Given the description of an element on the screen output the (x, y) to click on. 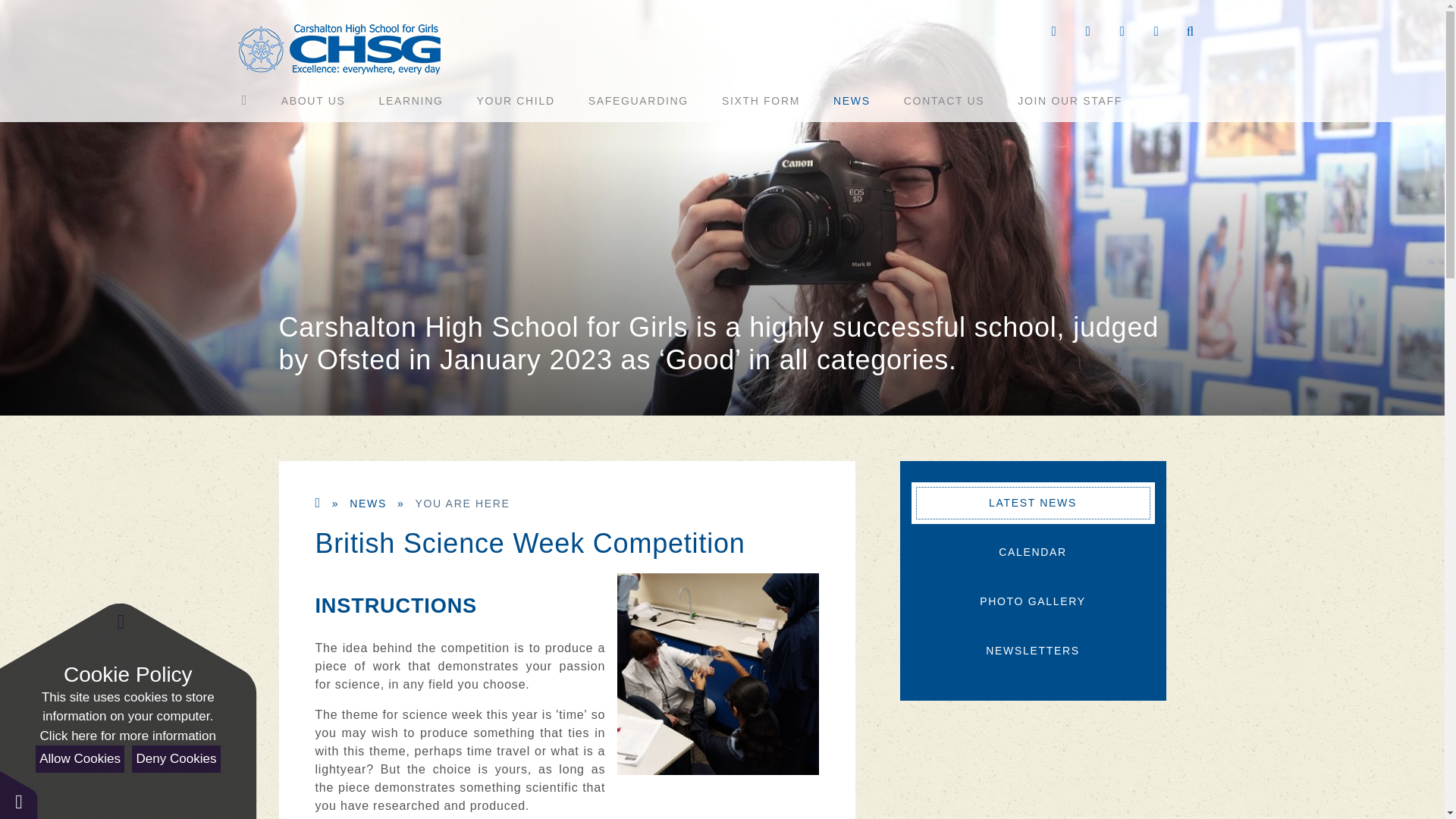
Deny Cookies (175, 759)
See cookie policy (127, 736)
ABOUT US (313, 100)
LEARNING (411, 100)
Allow Cookies (78, 759)
